Given the description of an element on the screen output the (x, y) to click on. 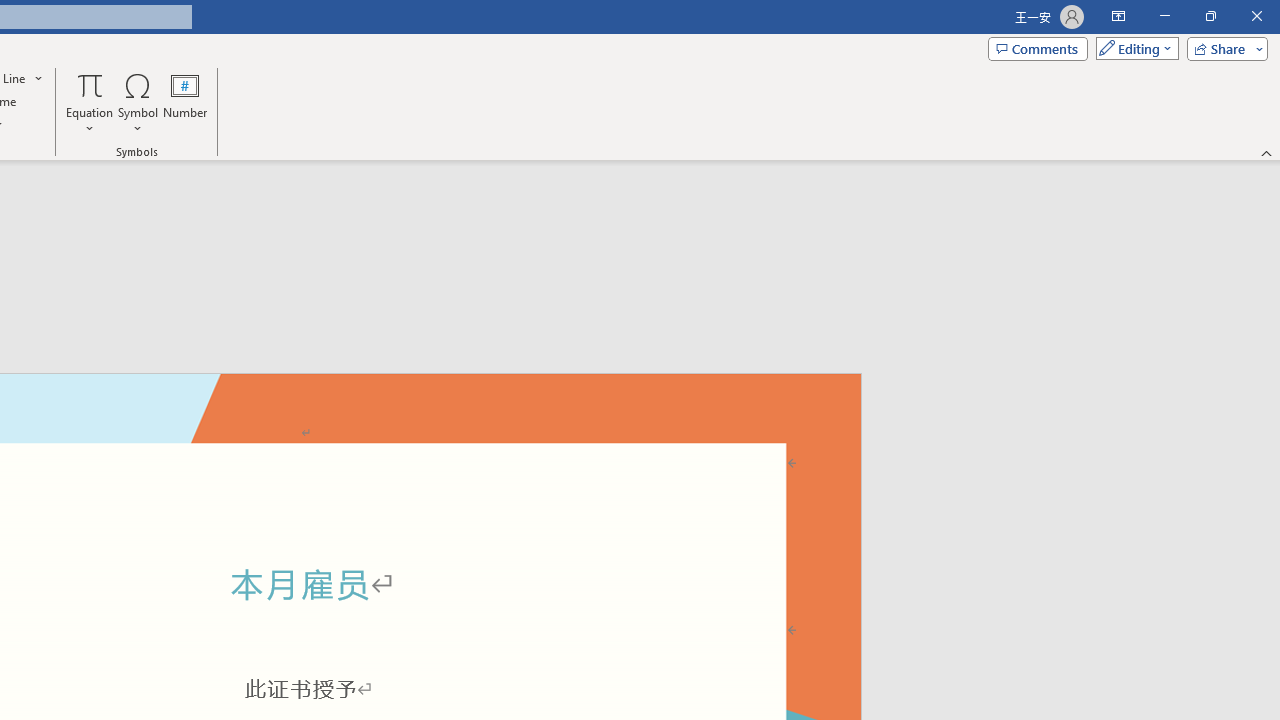
Equation (90, 84)
Symbol (138, 102)
Equation (90, 102)
Number... (185, 102)
